Given the description of an element on the screen output the (x, y) to click on. 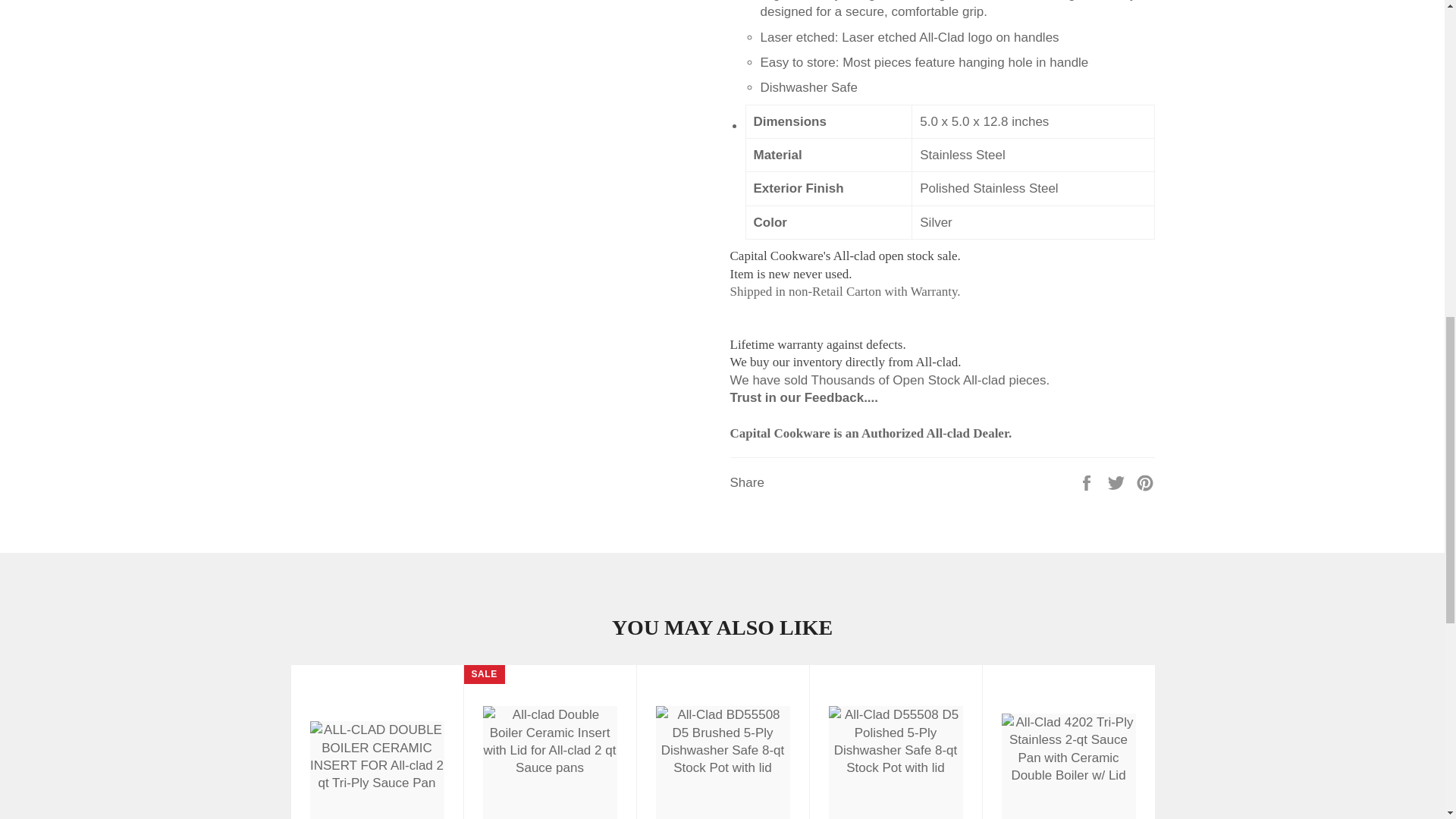
Share on Facebook (1088, 481)
Pin on Pinterest (1144, 481)
Tweet on Twitter (1117, 481)
